Given the description of an element on the screen output the (x, y) to click on. 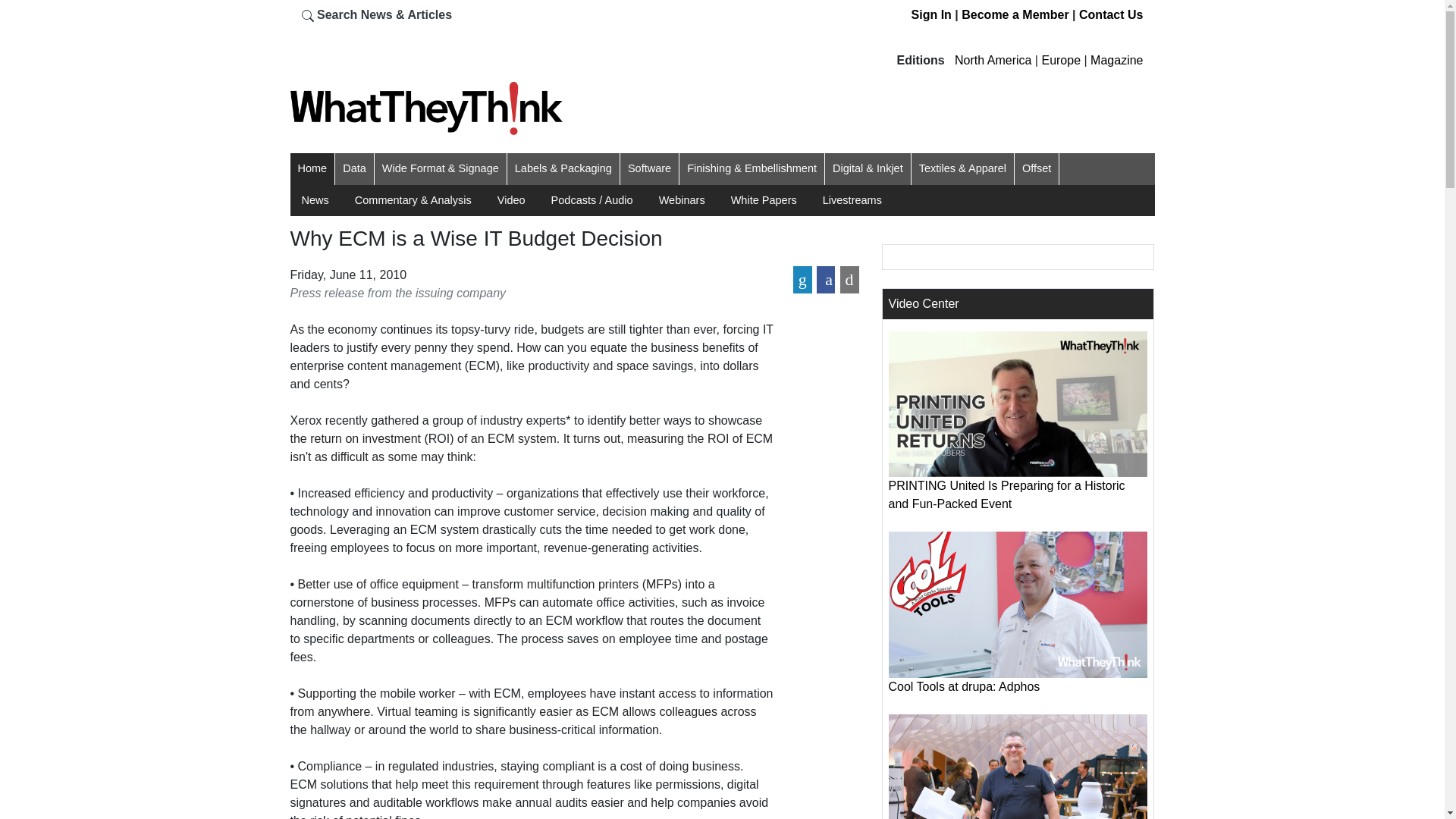
Data (354, 168)
Become a Member (1014, 14)
News (315, 200)
Software (649, 168)
Video (511, 200)
Webinars (681, 200)
Livestreams (852, 200)
White Papers (763, 200)
Home (311, 168)
North America (992, 60)
